Given the description of an element on the screen output the (x, y) to click on. 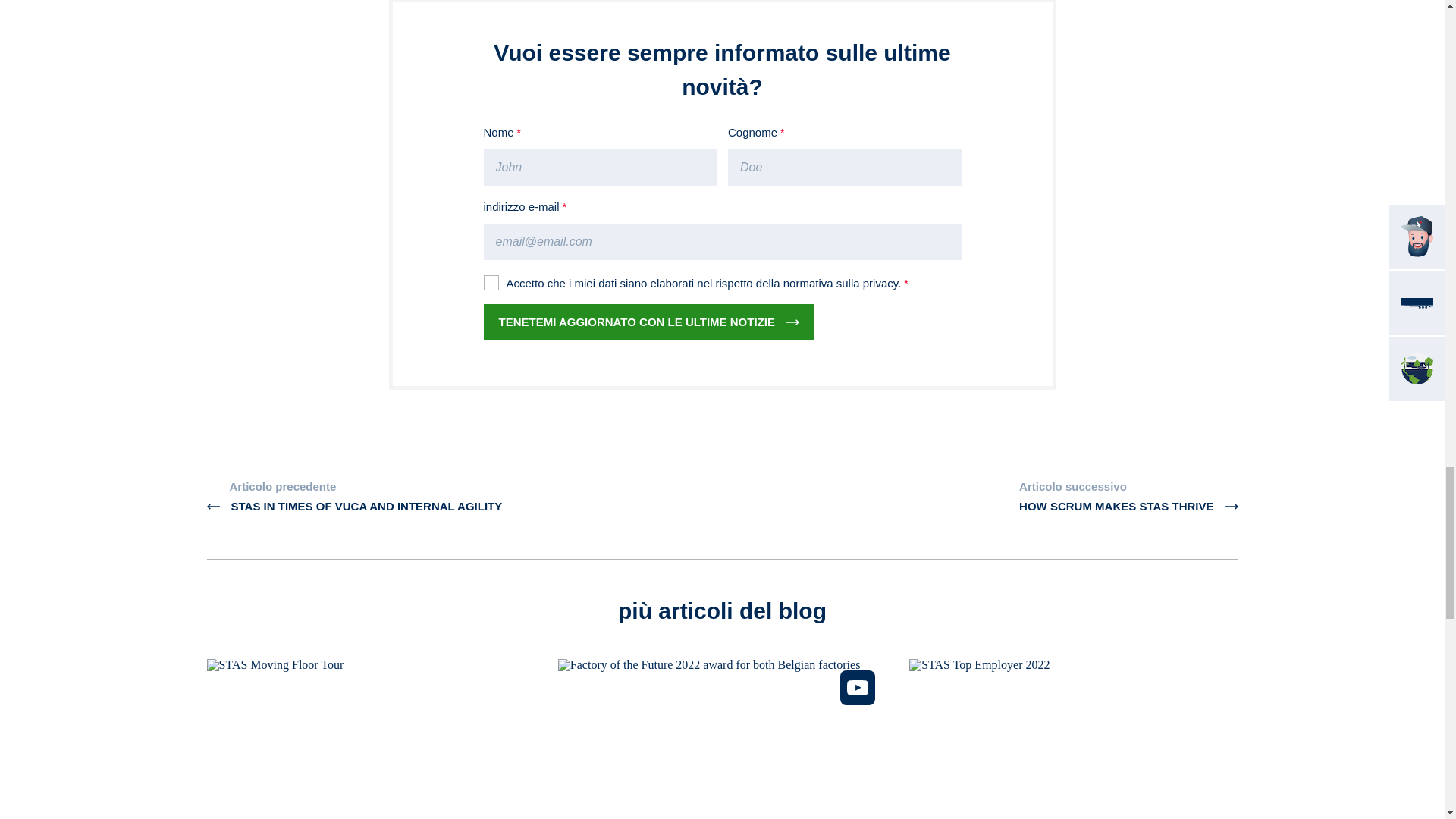
How scrum makes STAS thrive (1128, 496)
STAS in times of VUCA and internal agility (354, 496)
